Given the description of an element on the screen output the (x, y) to click on. 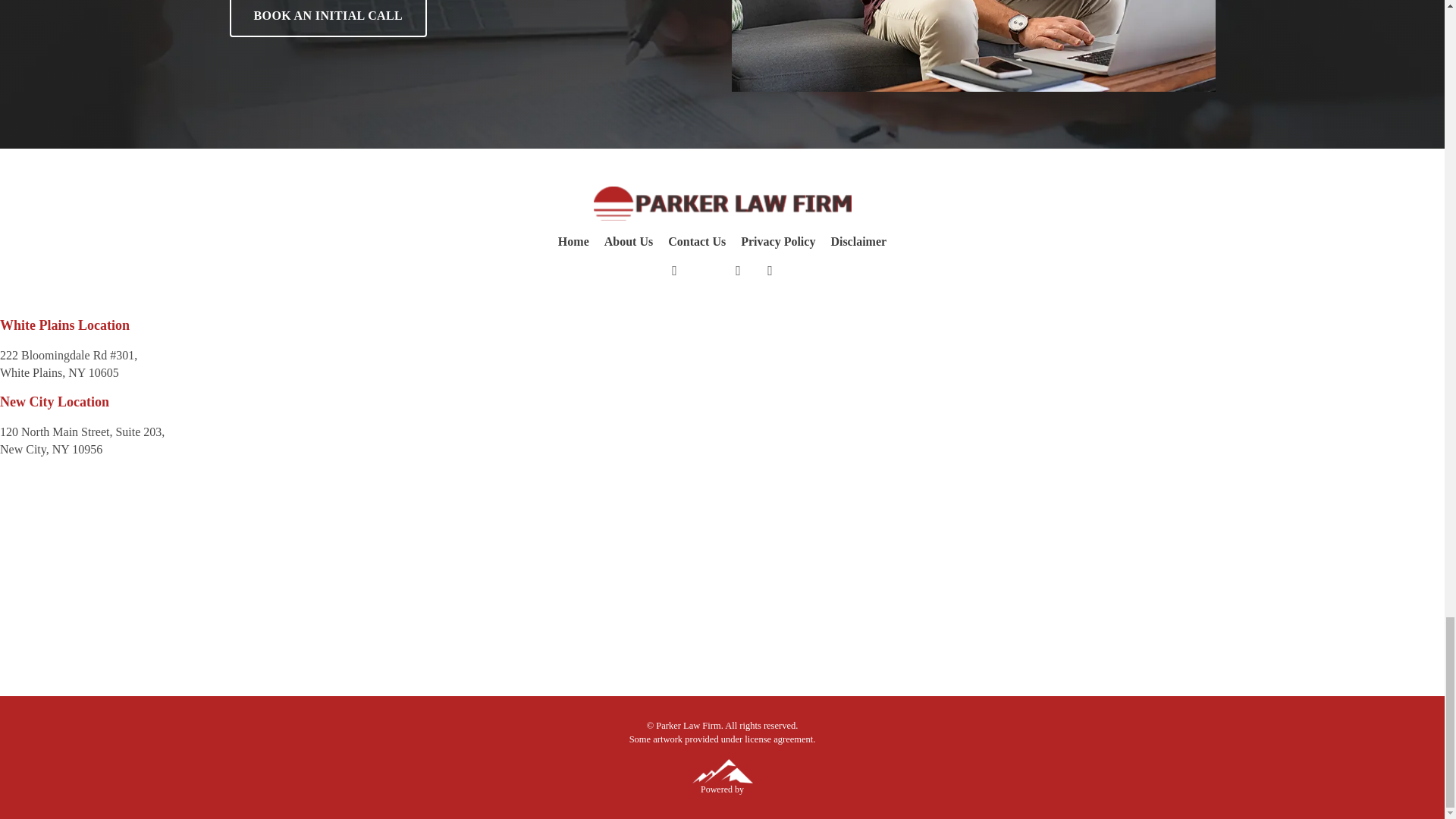
Book A Call With Parker Law Firm (973, 45)
Parker Law Firm (721, 203)
Book An Initial Call (327, 18)
